Given the description of an element on the screen output the (x, y) to click on. 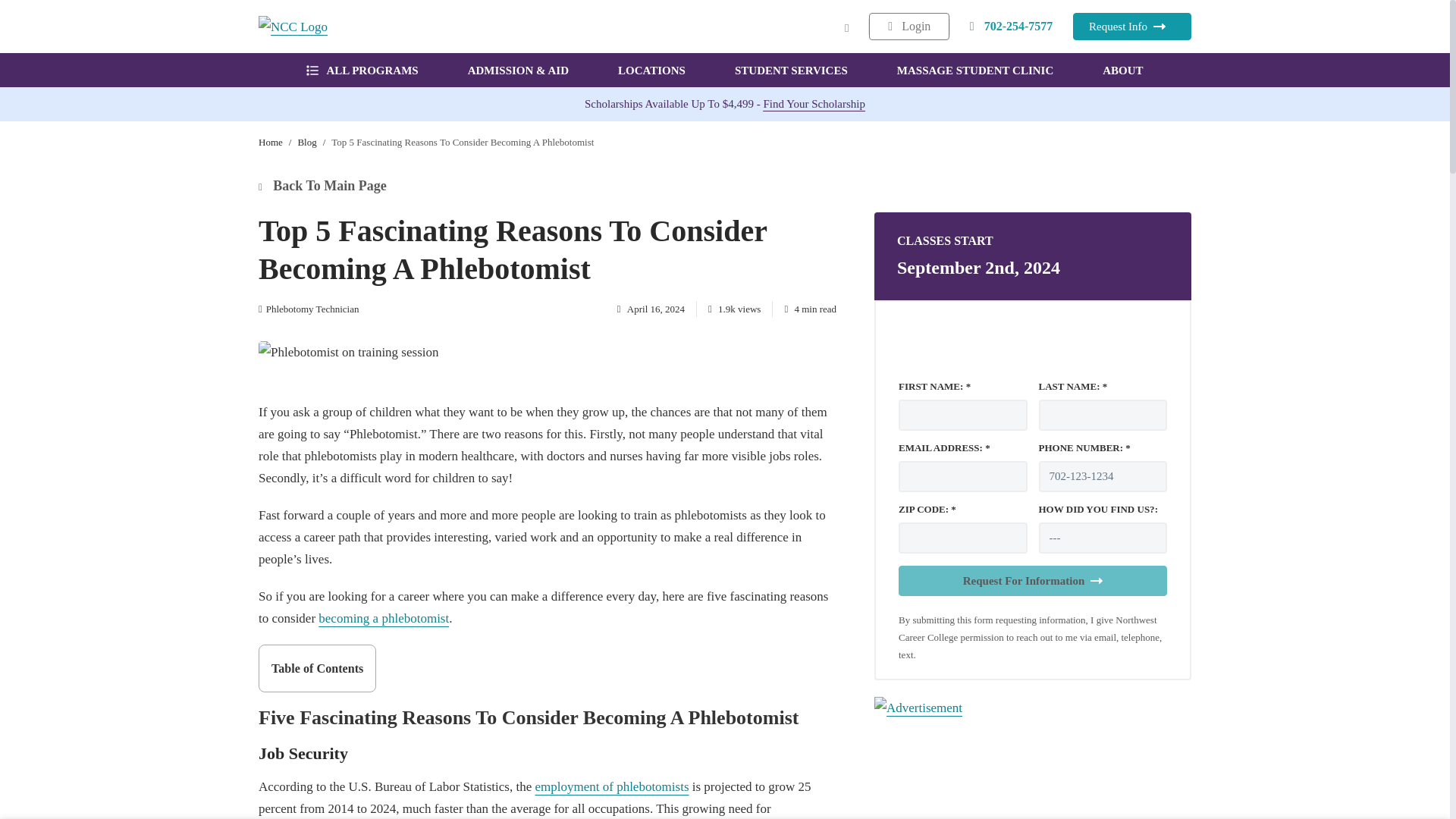
Login (909, 26)
702-254-7577 (1011, 26)
Blog (306, 142)
Request Info (1132, 26)
ALL PROGRAMS (362, 69)
